Given the description of an element on the screen output the (x, y) to click on. 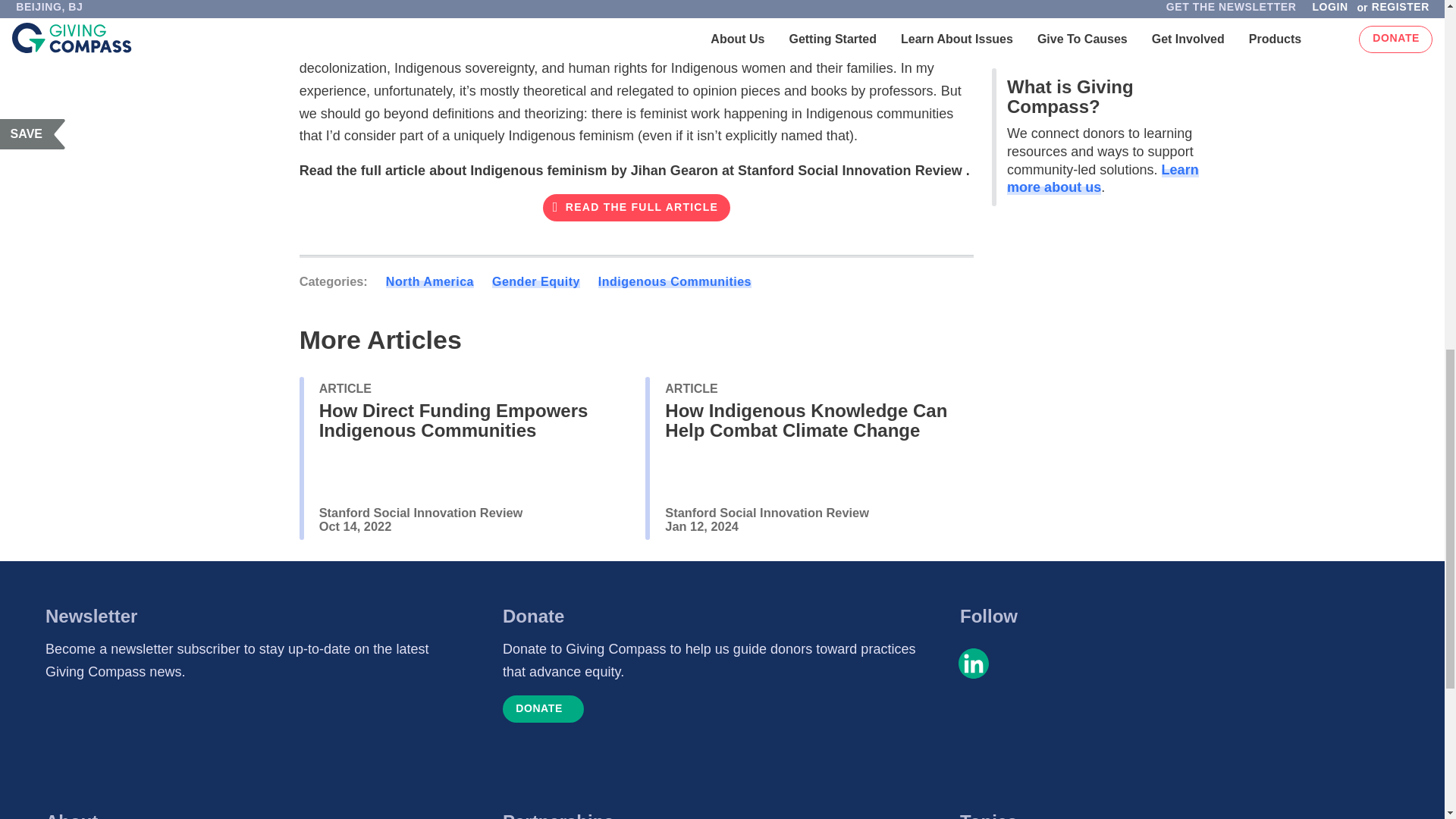
Gender Equity (535, 281)
North America (429, 281)
DONATE (542, 708)
Indigenous Communities (674, 281)
READ THE FULL ARTICLE (636, 207)
Form 0 (254, 744)
